Given the description of an element on the screen output the (x, y) to click on. 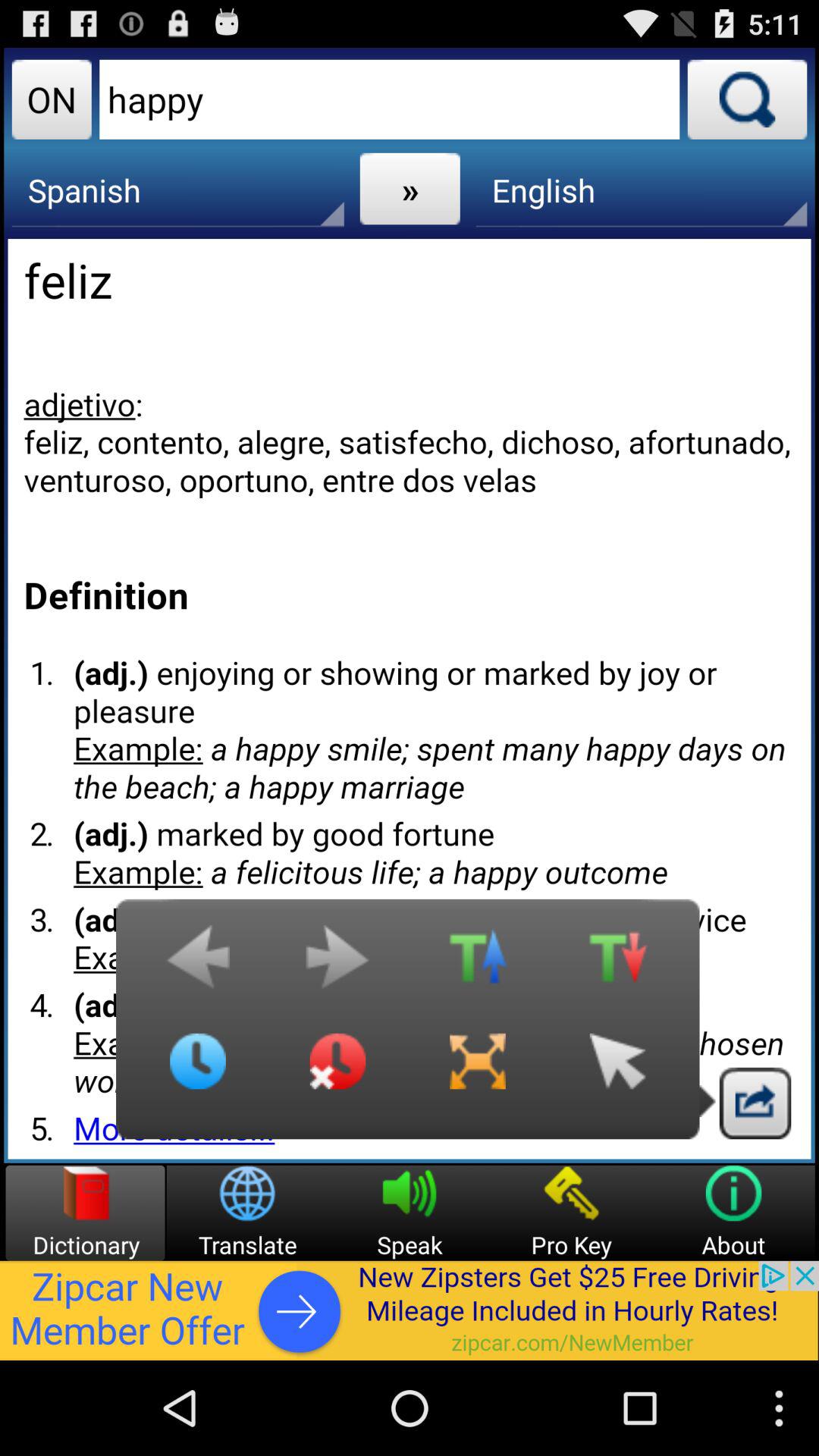
download (755, 1103)
